Given the description of an element on the screen output the (x, y) to click on. 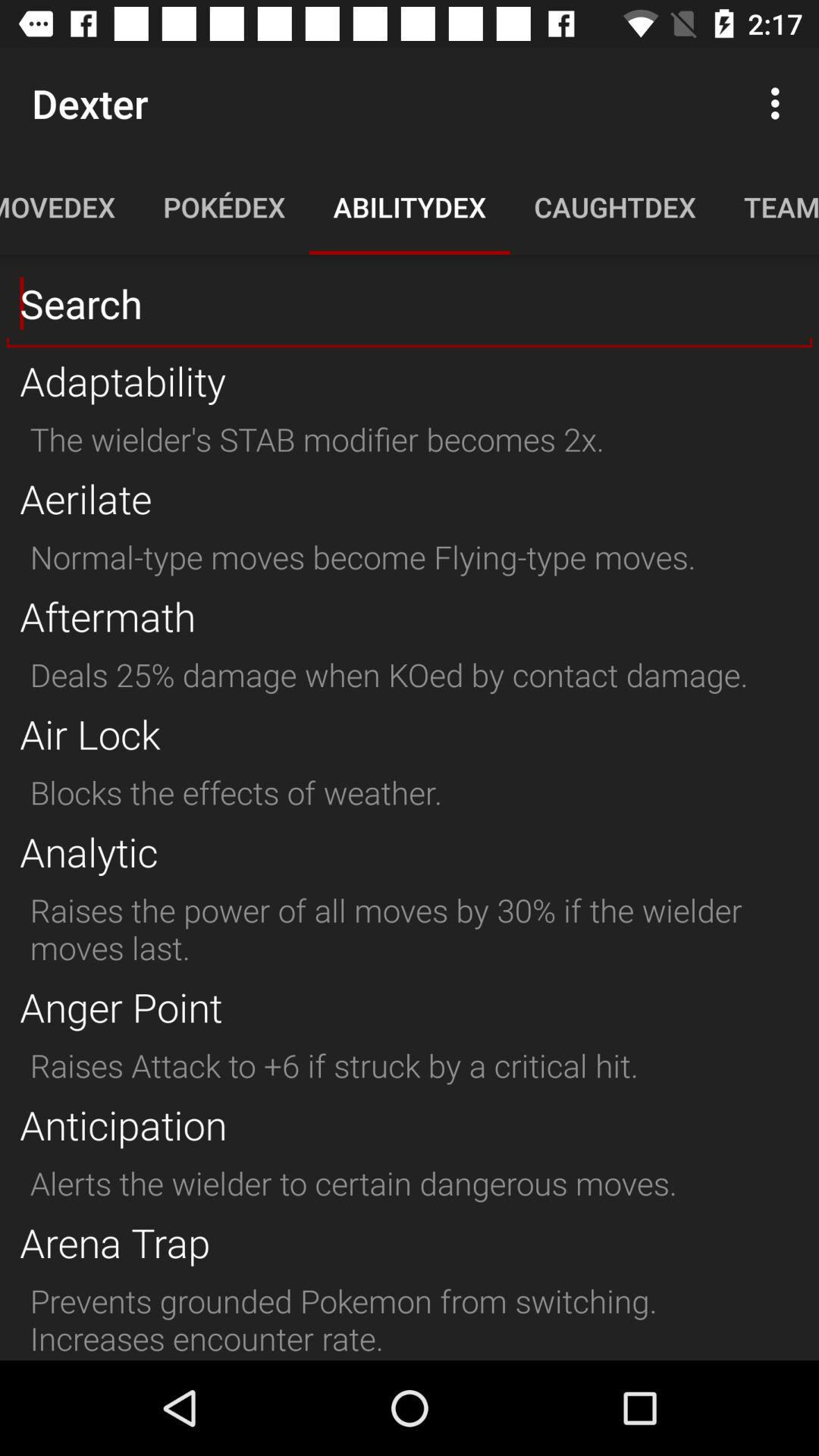
select the item above the teamdex (779, 103)
